Given the description of an element on the screen output the (x, y) to click on. 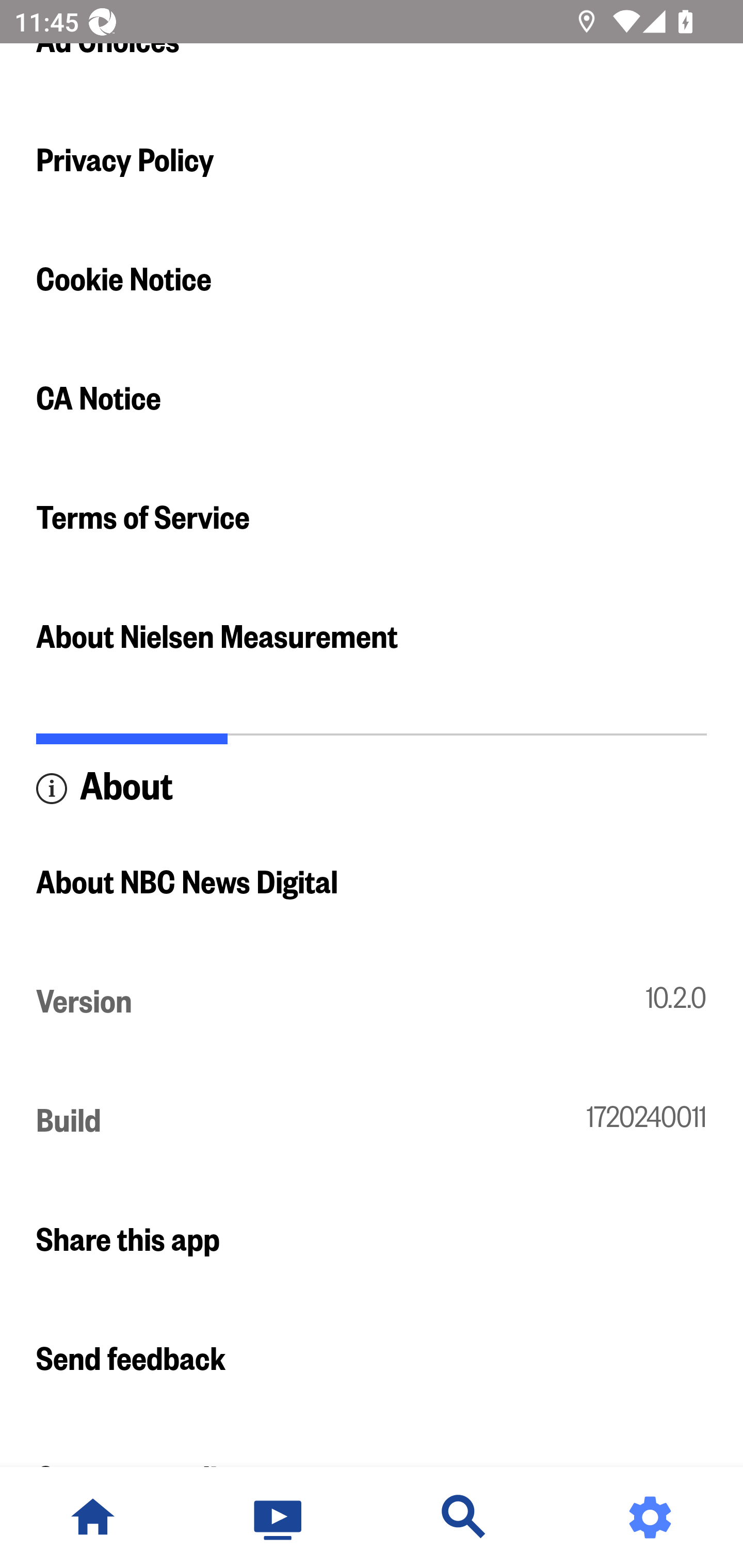
Privacy Policy (371, 161)
Cookie Notice (371, 280)
CA Notice (371, 399)
Terms of Service (371, 518)
About Nielsen Measurement (371, 637)
About NBC News Digital (371, 882)
Version 10.2.0 (371, 1001)
Build 1720240011 (371, 1120)
Share this app (371, 1239)
Send feedback (371, 1359)
NBC News Home (92, 1517)
Watch (278, 1517)
Discover (464, 1517)
